Given the description of an element on the screen output the (x, y) to click on. 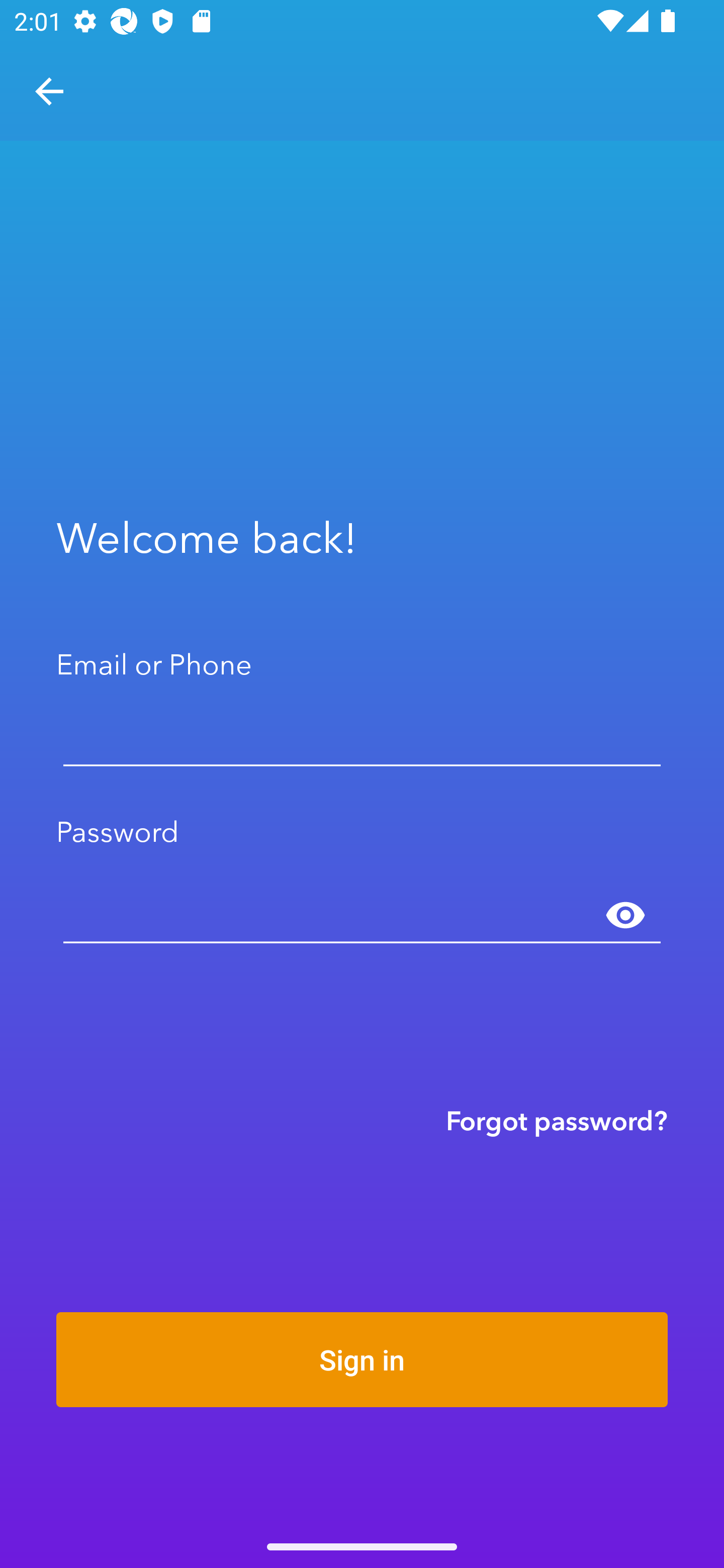
Navigate up (49, 91)
Show password (625, 915)
Forgot password? (556, 1119)
Sign in (361, 1359)
